Given the description of an element on the screen output the (x, y) to click on. 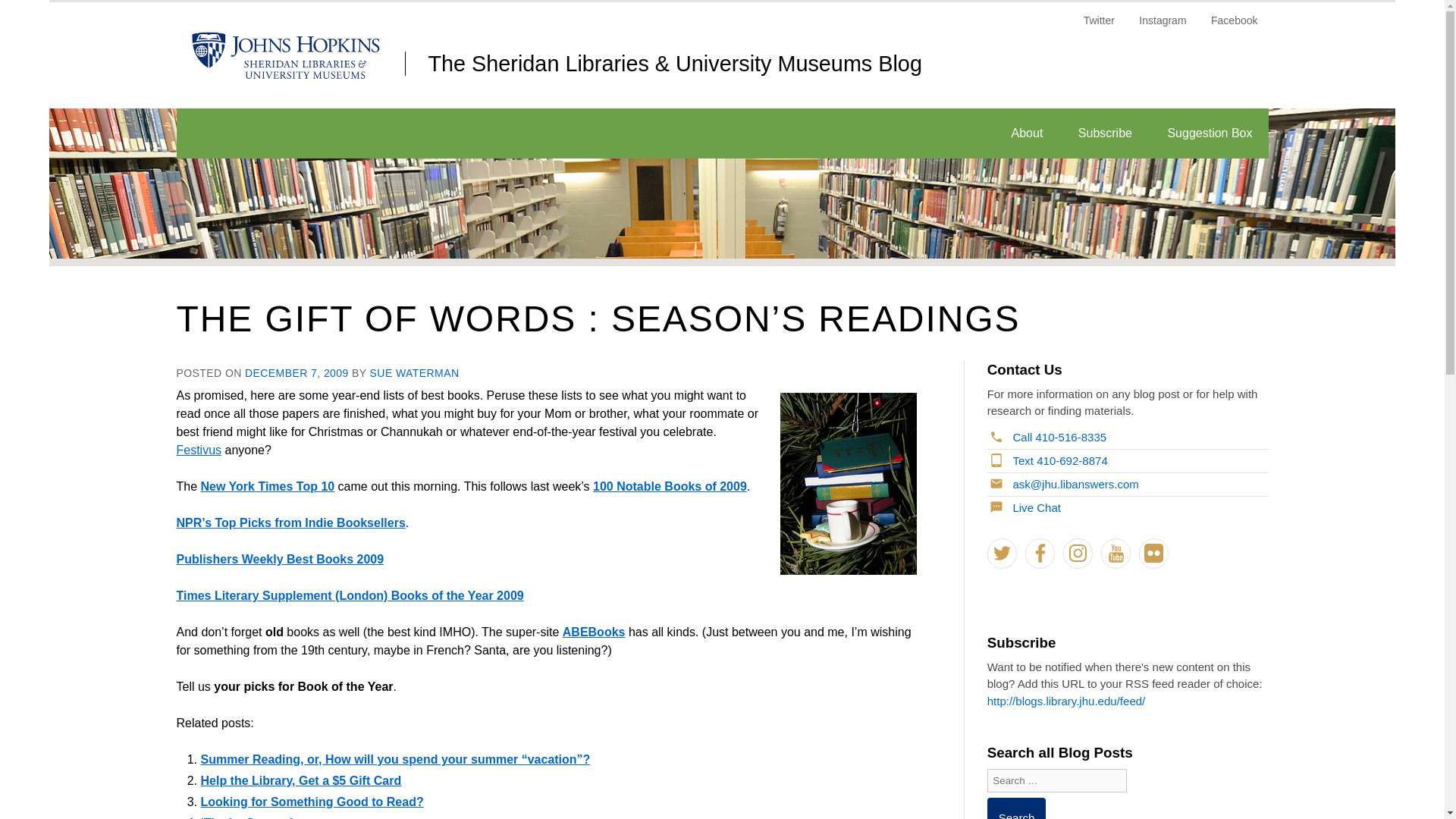
christmasbooks (846, 483)
NPR's best books (290, 522)
TLS books of the year (349, 594)
Facebook (1040, 553)
Search (1016, 808)
Festivus (198, 449)
ABE Books (594, 631)
Instagram (1077, 553)
Search (1016, 808)
DECEMBER 7, 2009 (296, 372)
Call 410-516-8335 (1048, 436)
Twitter (1099, 25)
Looking for Something Good to Read? (311, 801)
About (1027, 133)
Flickr (1153, 553)
